Given the description of an element on the screen output the (x, y) to click on. 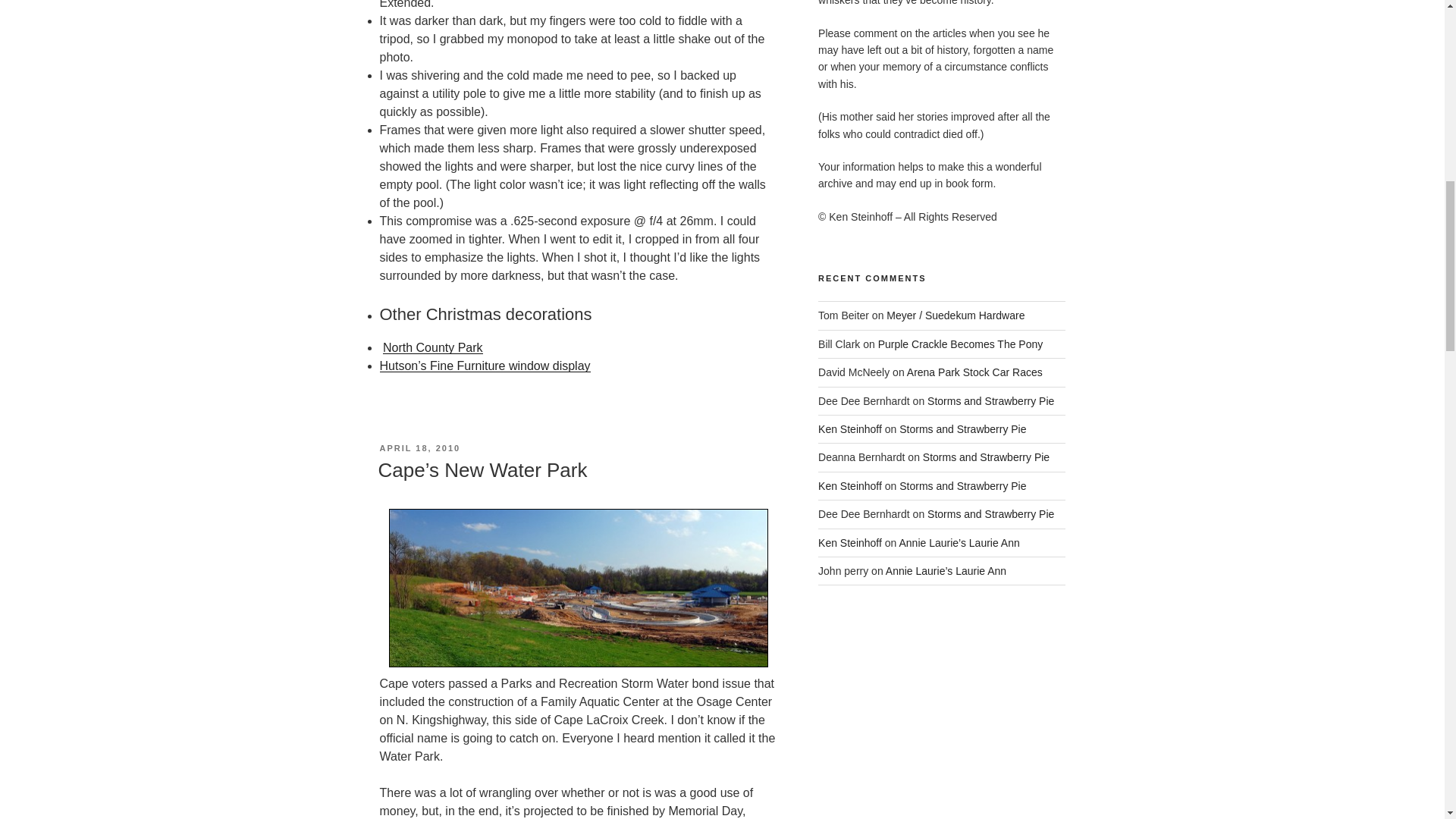
Ken Steinhoff (850, 428)
Storms and Strawberry Pie (962, 485)
Storms and Strawberry Pie (962, 428)
Storms and Strawberry Pie (986, 457)
Ken Steinhoff (850, 485)
Arena Park Stock Car Races (974, 372)
Ken Steinhoff (850, 542)
Storms and Strawberry Pie (990, 513)
Storms and Strawberry Pie (990, 400)
APRIL 18, 2010 (419, 447)
